Given the description of an element on the screen output the (x, y) to click on. 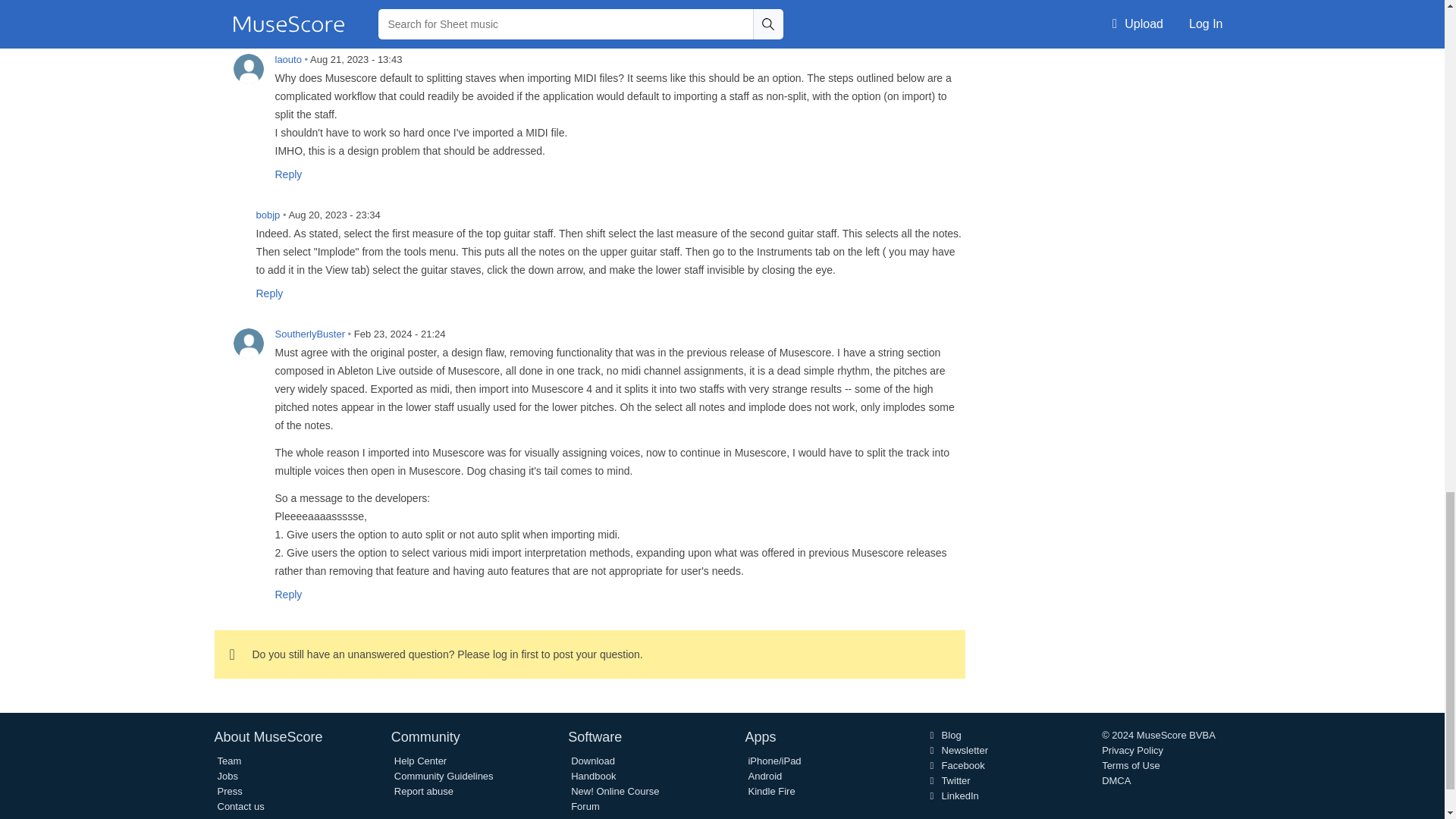
SoutherlyBuster (247, 343)
bobjp (229, 224)
stevelew (323, 0)
laouto (247, 69)
